Given the description of an element on the screen output the (x, y) to click on. 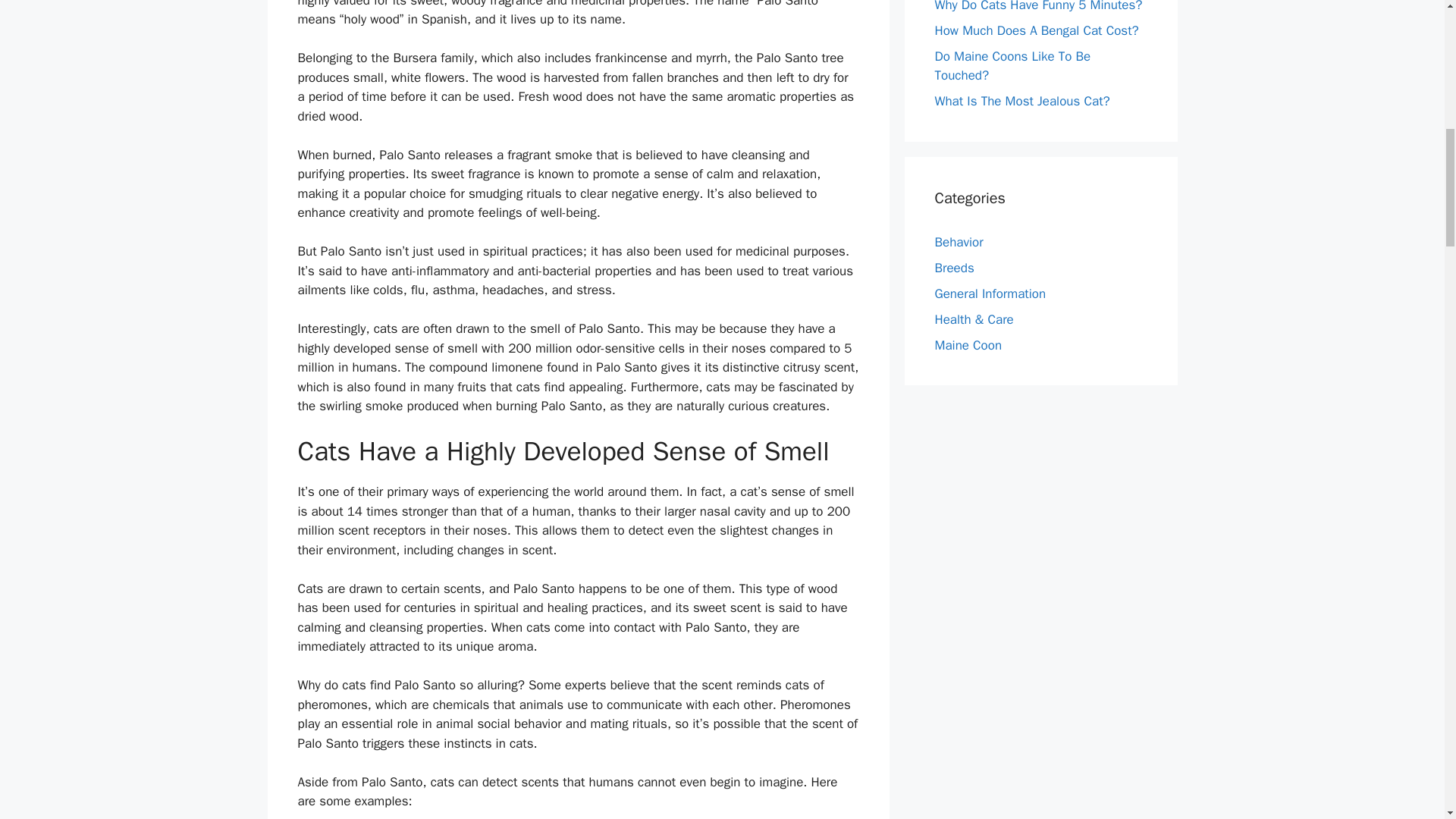
What Is The Most Jealous Cat? (1021, 100)
Behavior (958, 242)
Do Maine Coons Like To Be Touched? (1012, 66)
How Much Does A Bengal Cat Cost? (1036, 30)
Scroll back to top (1406, 720)
Why Do Cats Have Funny 5 Minutes? (1037, 6)
